Given the description of an element on the screen output the (x, y) to click on. 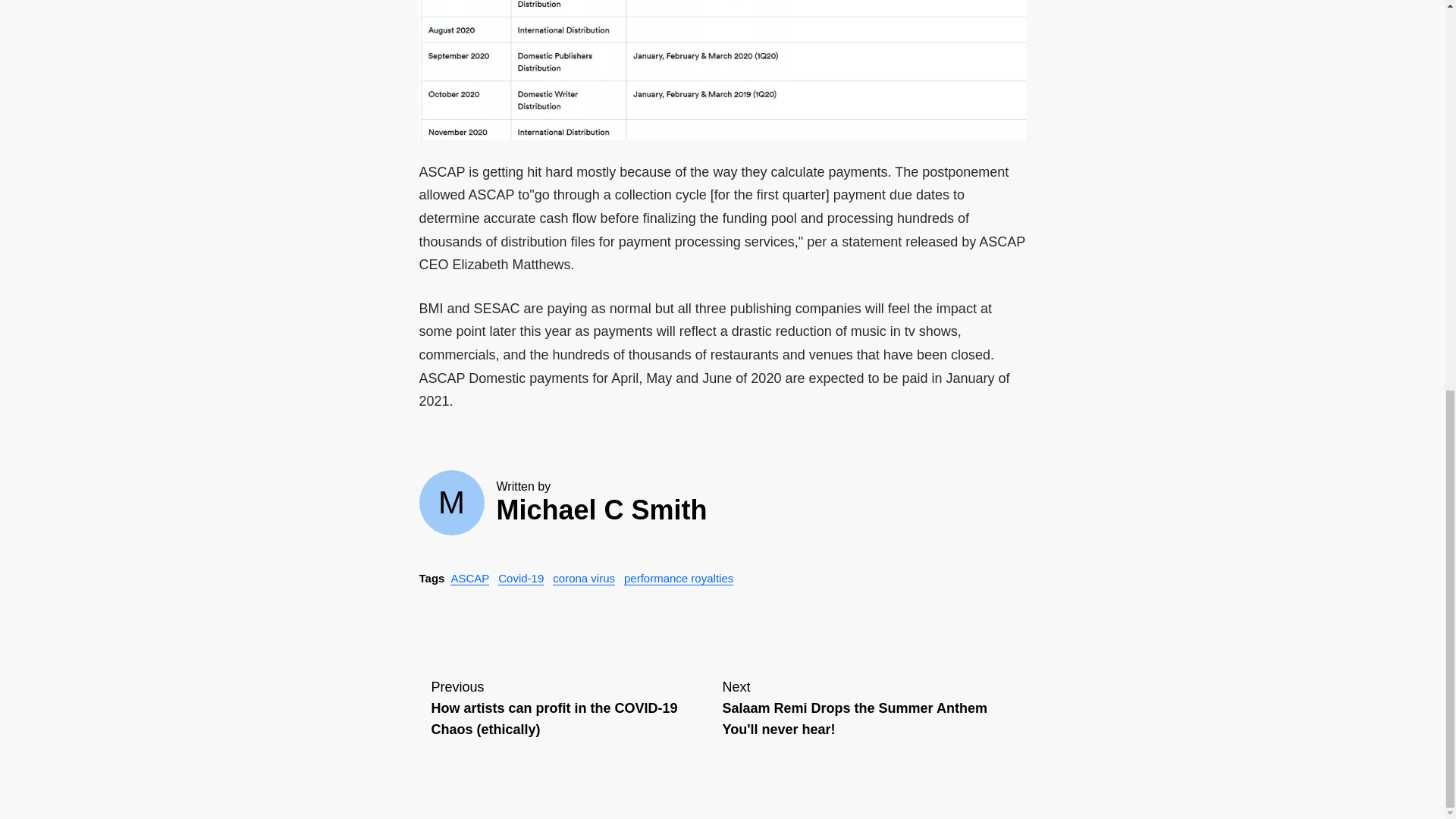
performance royalties (678, 578)
corona virus (583, 578)
Covid-19 (520, 578)
ASCAP (867, 709)
